Given the description of an element on the screen output the (x, y) to click on. 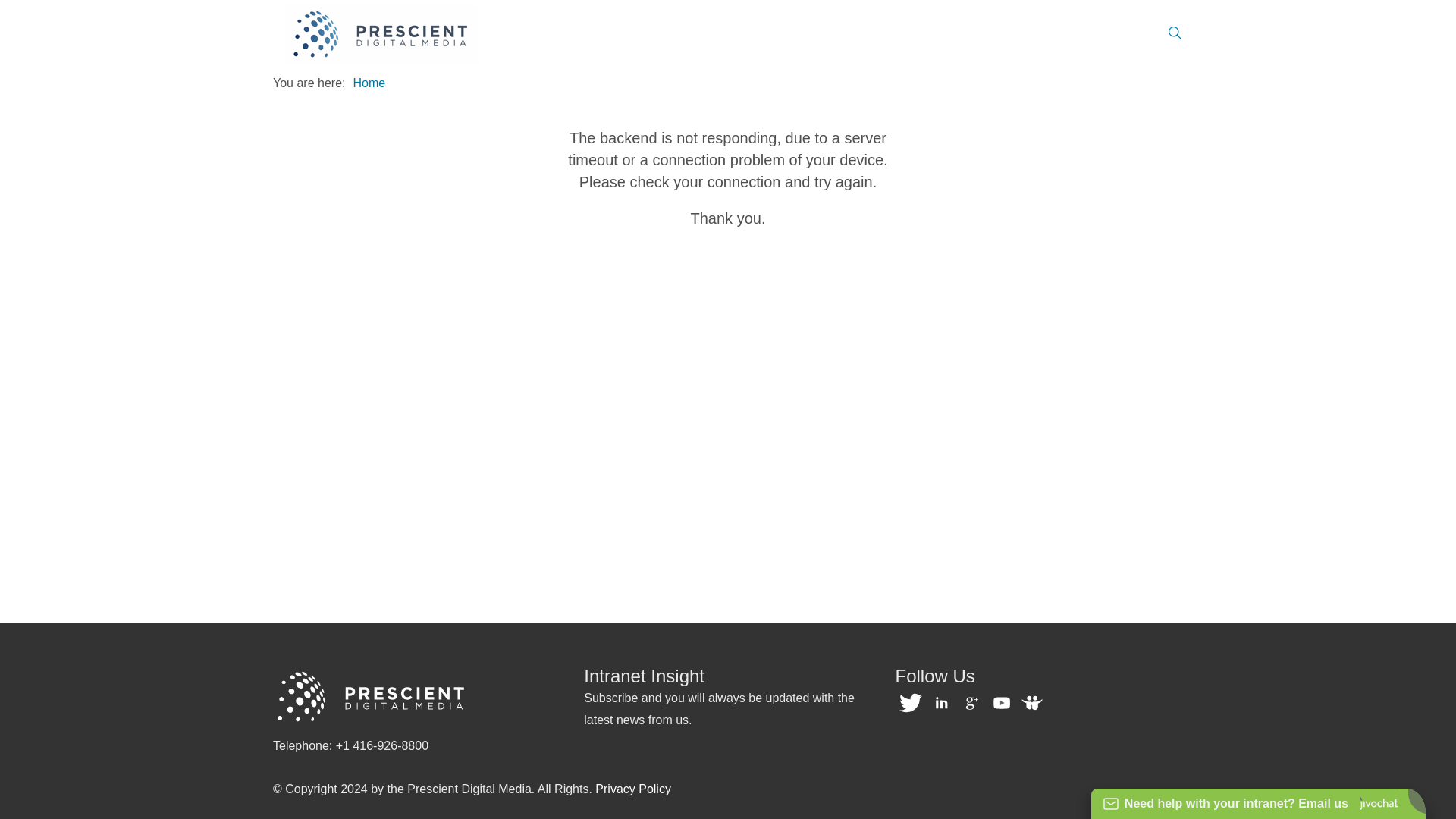
Privacy Policy (633, 788)
Site (380, 34)
Home (368, 82)
